Given the description of an element on the screen output the (x, y) to click on. 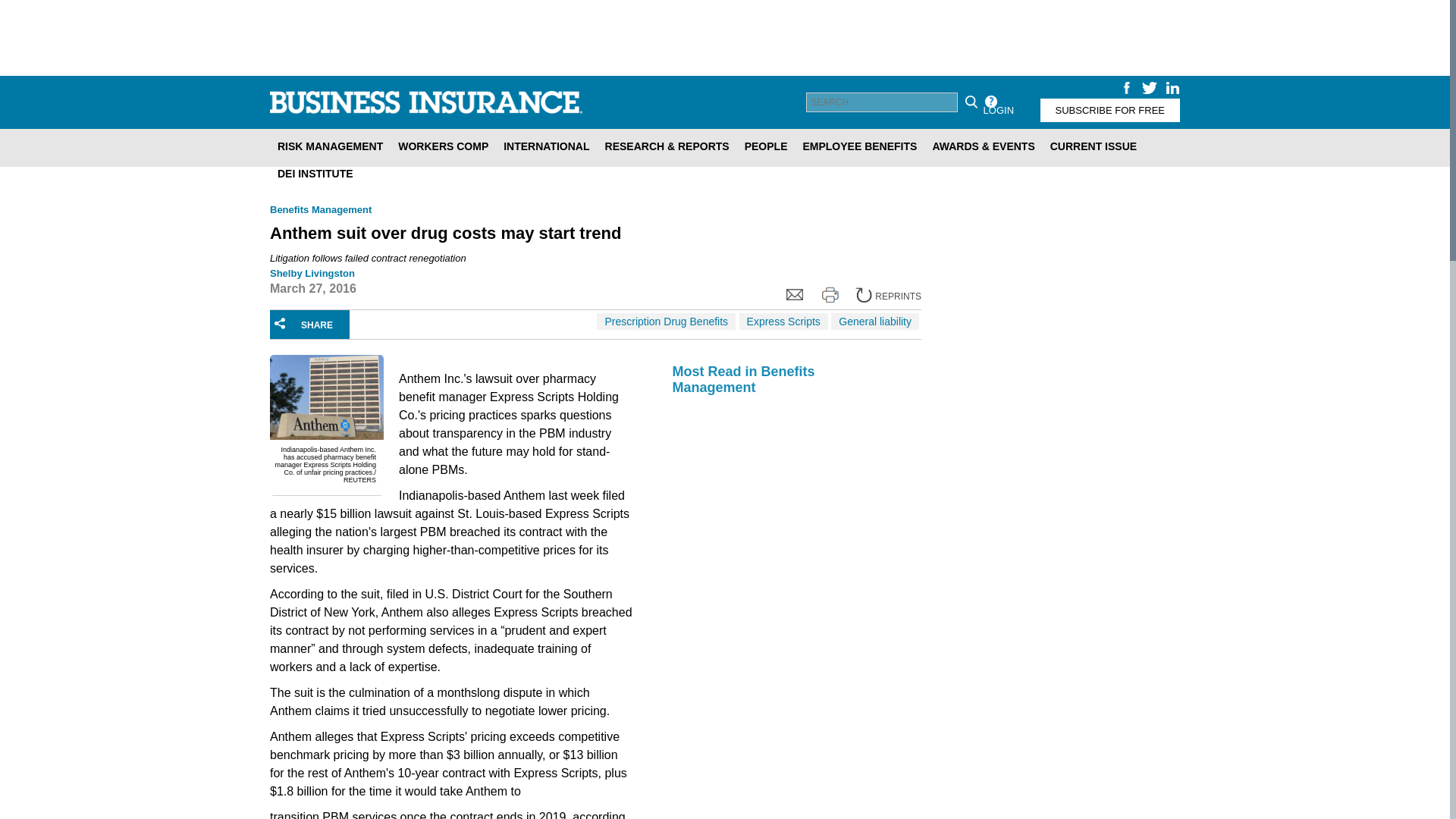
PEOPLE (765, 145)
RISK MANAGEMENT (329, 145)
INTERNATIONAL (546, 145)
Help (990, 101)
LOGIN (998, 110)
SUBSCRIBE FOR FREE (1110, 110)
WORKERS COMP (443, 145)
